Given the description of an element on the screen output the (x, y) to click on. 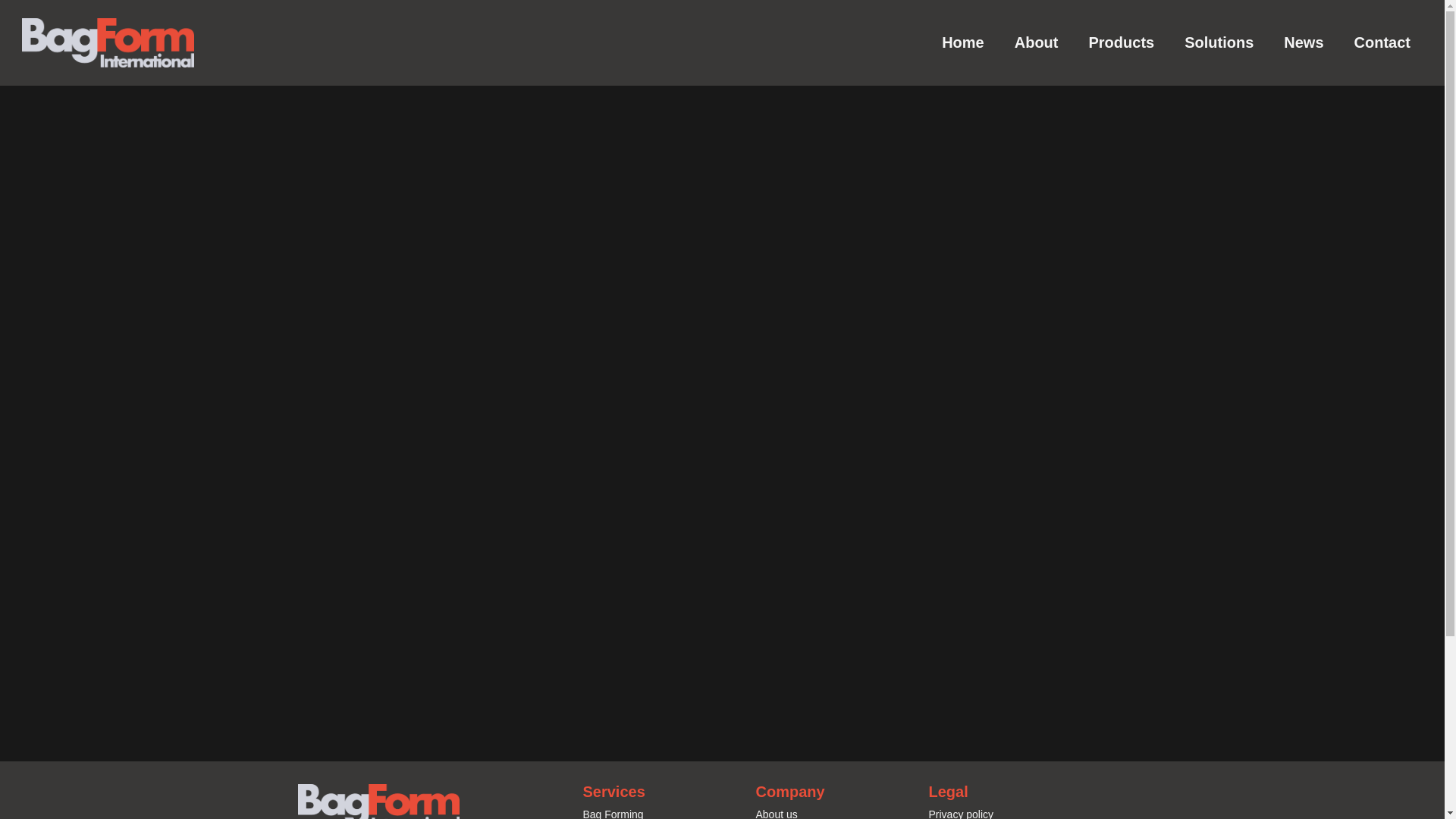
Contact (1382, 42)
About (1036, 42)
About us (775, 813)
Products (1121, 42)
Solutions (1218, 42)
Privacy policy (960, 813)
Home (962, 42)
News (1303, 42)
Bag Forming (612, 813)
